Given the description of an element on the screen output the (x, y) to click on. 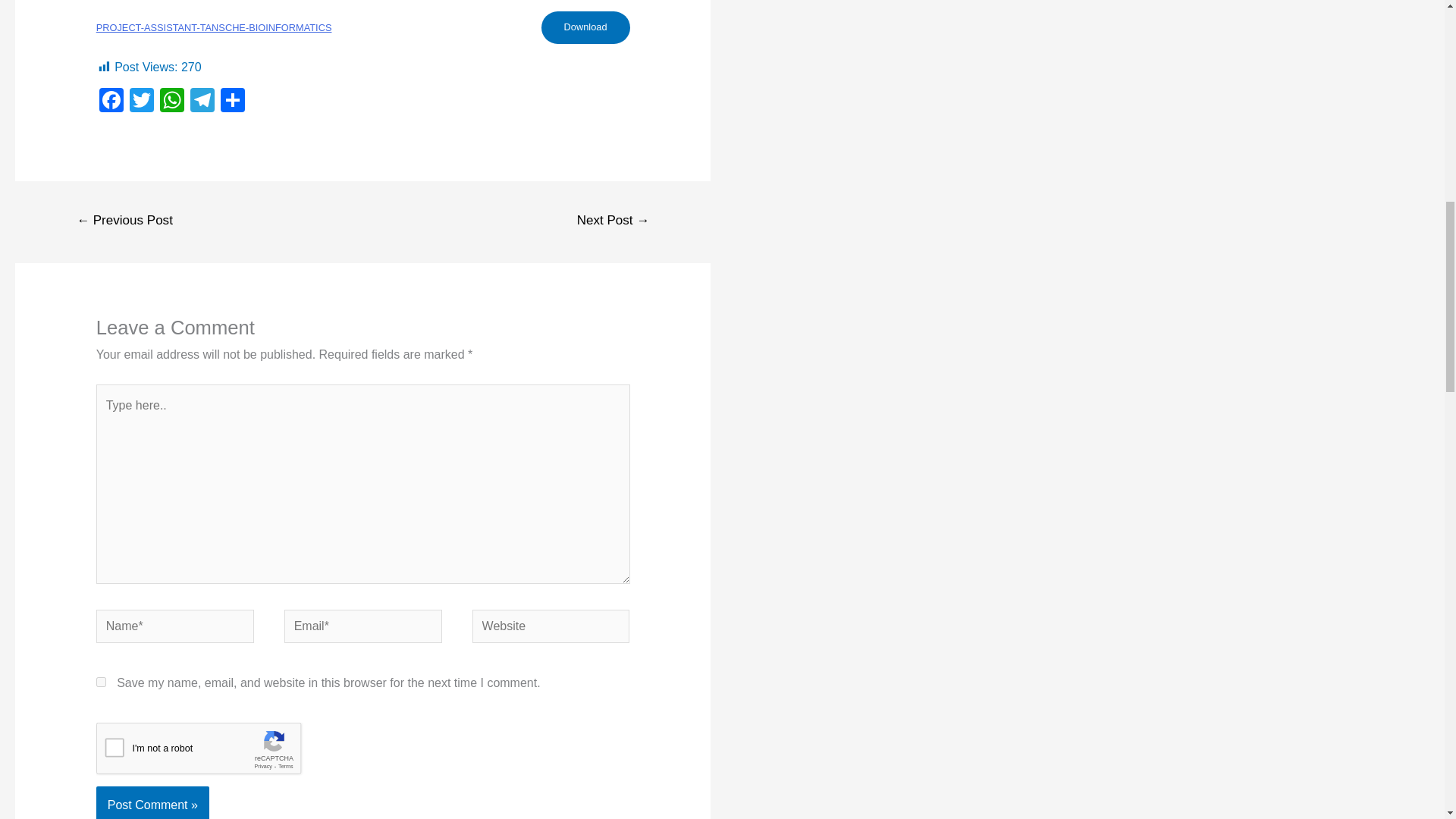
Twitter (141, 101)
PROJECT-ASSISTANT-TANSCHE-BIOINFORMATICS (213, 27)
Facebook (111, 101)
Download (585, 27)
WhatsApp (172, 101)
Twitter (141, 101)
Telegram (201, 101)
yes (101, 682)
reCAPTCHA (211, 752)
WhatsApp (172, 101)
